Given the description of an element on the screen output the (x, y) to click on. 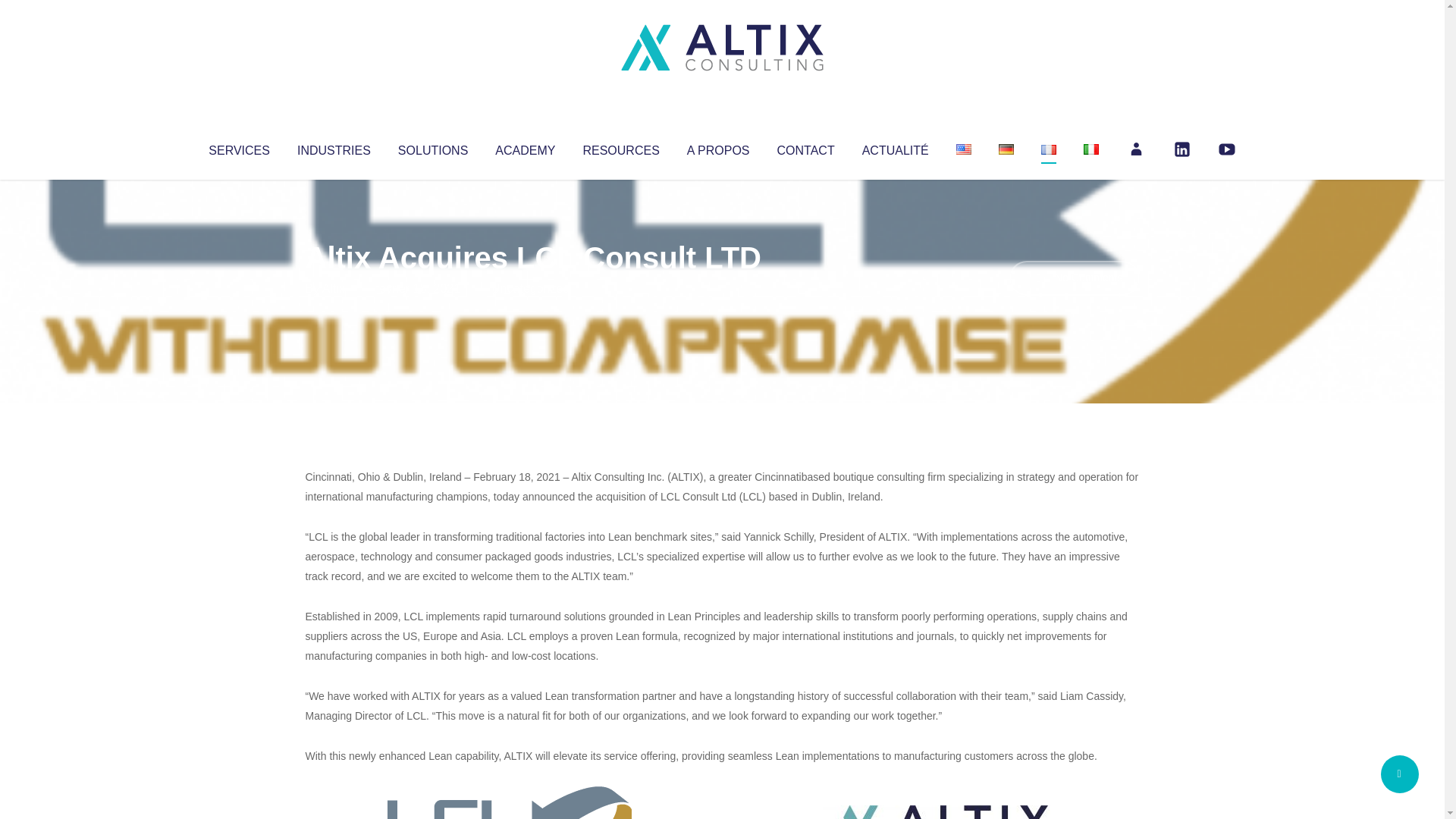
SOLUTIONS (432, 146)
Uncategorized (530, 287)
Altix (333, 287)
SERVICES (238, 146)
INDUSTRIES (334, 146)
ACADEMY (524, 146)
A PROPOS (718, 146)
Articles par Altix (333, 287)
RESOURCES (620, 146)
No Comments (1073, 278)
